Given the description of an element on the screen output the (x, y) to click on. 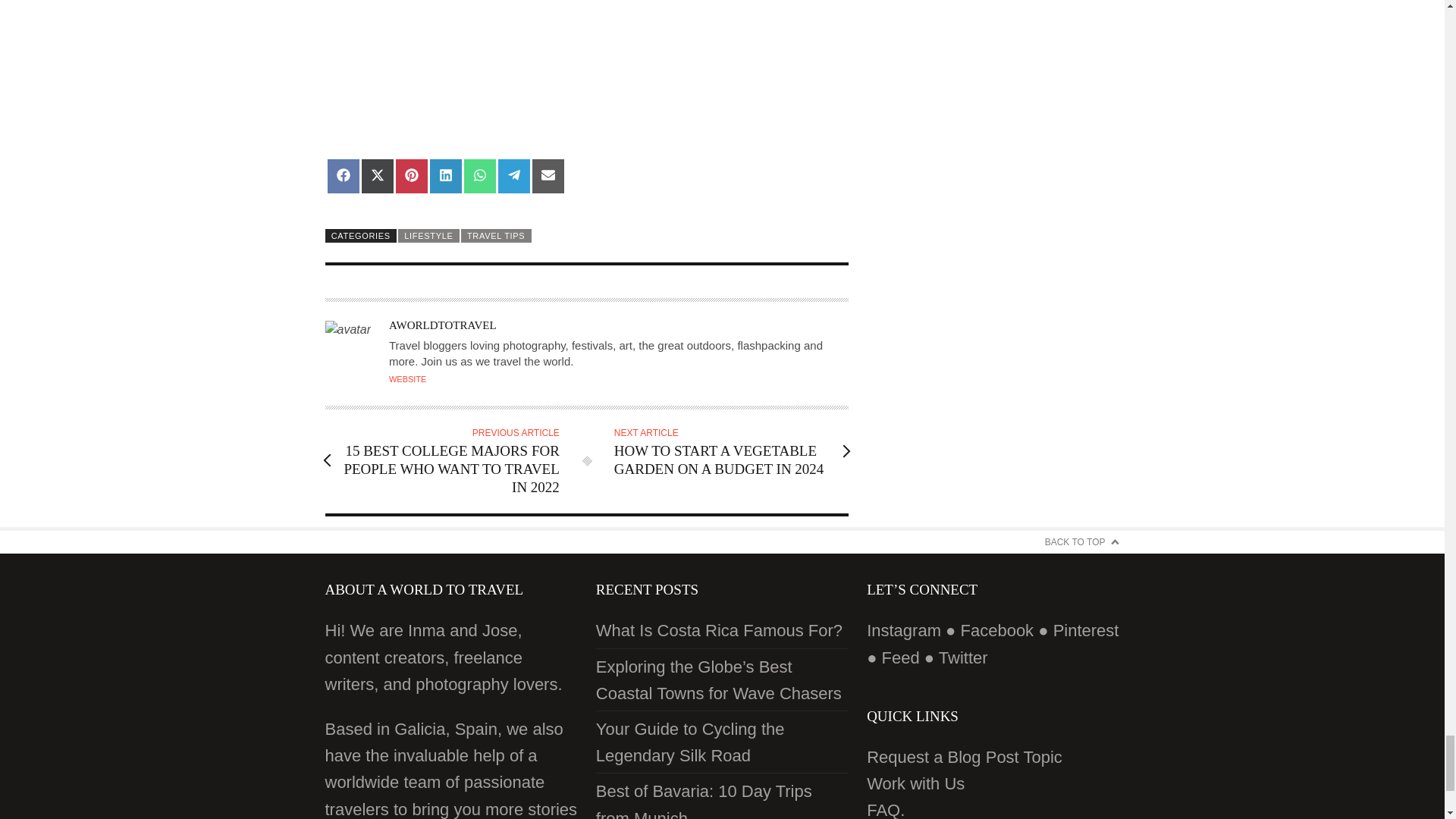
View all posts in LIFESTYLE (428, 235)
Posts by aworldtotravel (442, 325)
View all posts in TRAVEL TIPS (496, 235)
